Given the description of an element on the screen output the (x, y) to click on. 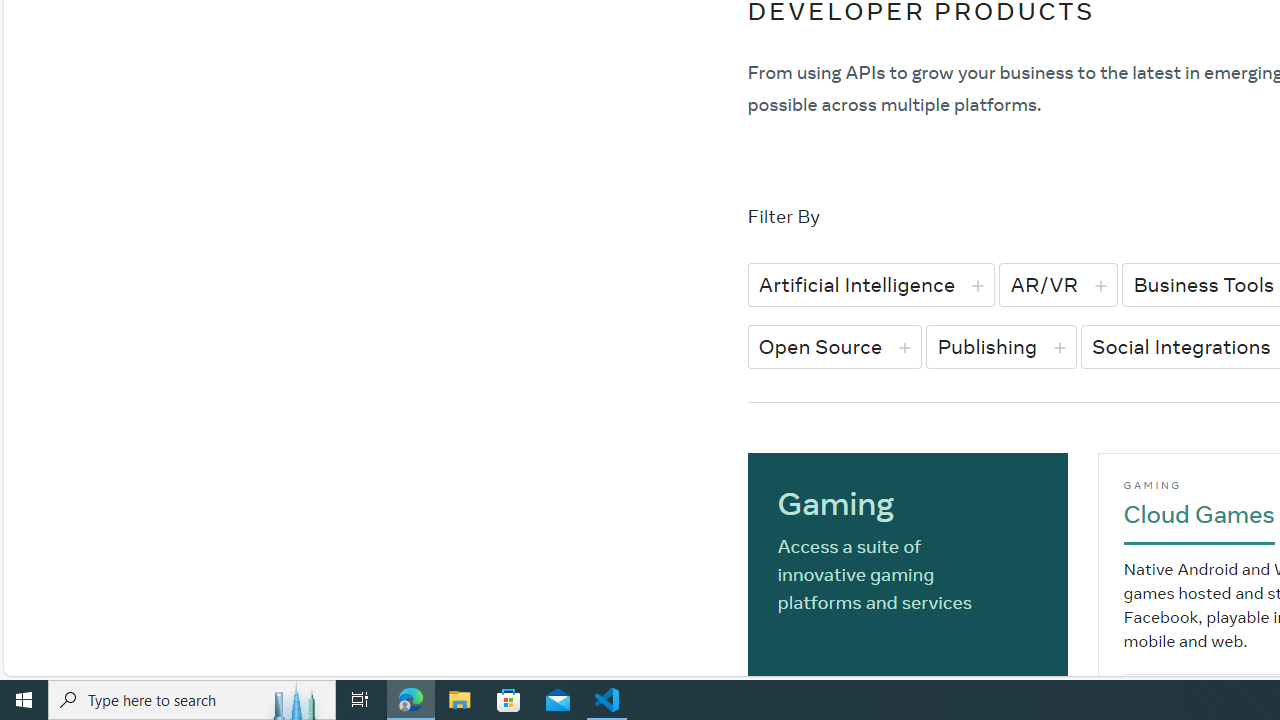
AR/VR (1058, 284)
Open Source (834, 346)
Artificial Intelligence (871, 284)
Publishing (1001, 346)
